Given the description of an element on the screen output the (x, y) to click on. 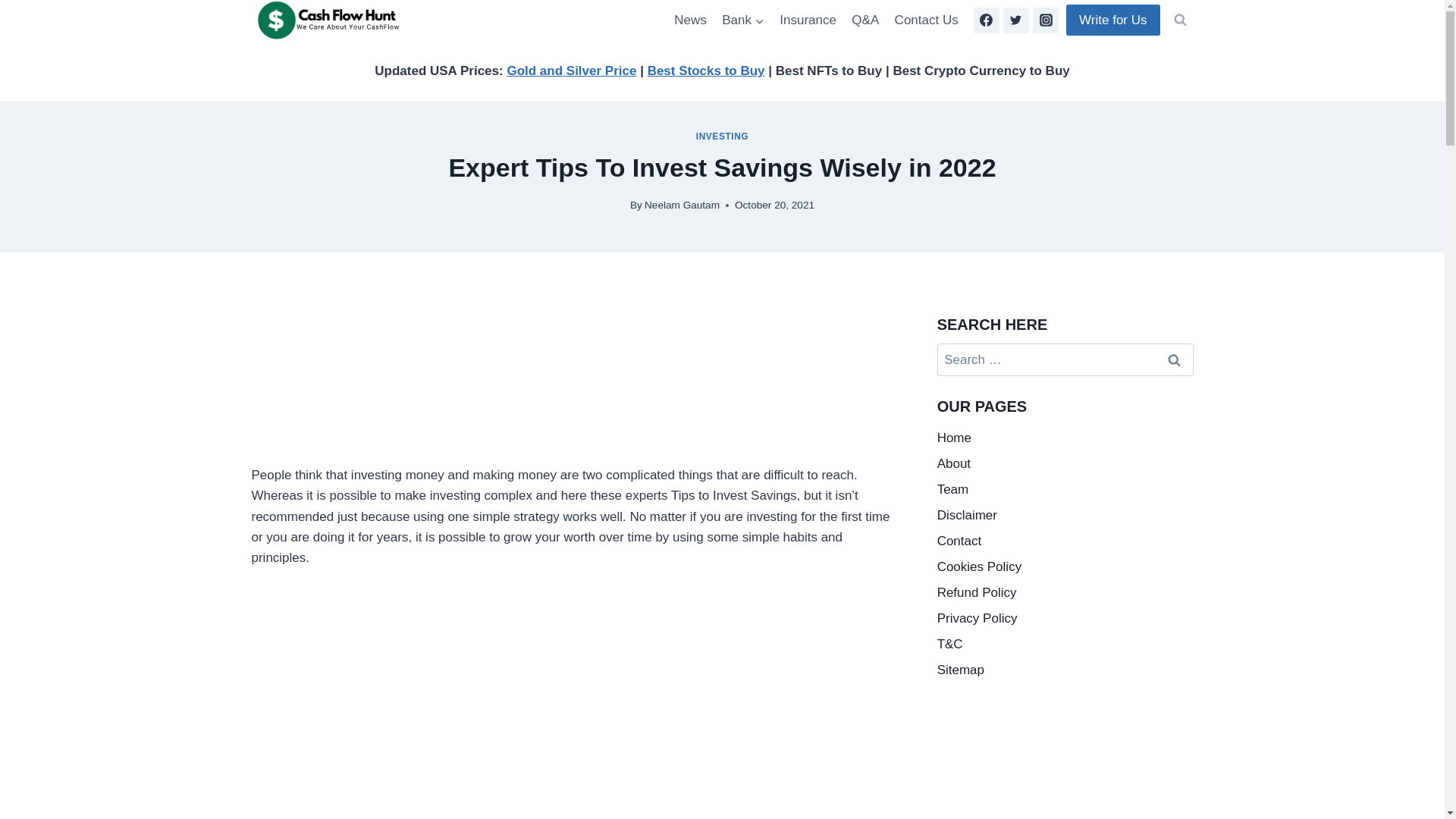
Contact Us (925, 20)
Bank (742, 20)
Write for Us (1111, 20)
Gold and Silver Price (571, 70)
Search (1174, 359)
Advertisement (571, 388)
Search (1174, 359)
News (690, 20)
Best Stocks to Buy (706, 70)
INVESTING (721, 136)
Neelam Gautam (682, 204)
Insurance (807, 20)
